Given the description of an element on the screen output the (x, y) to click on. 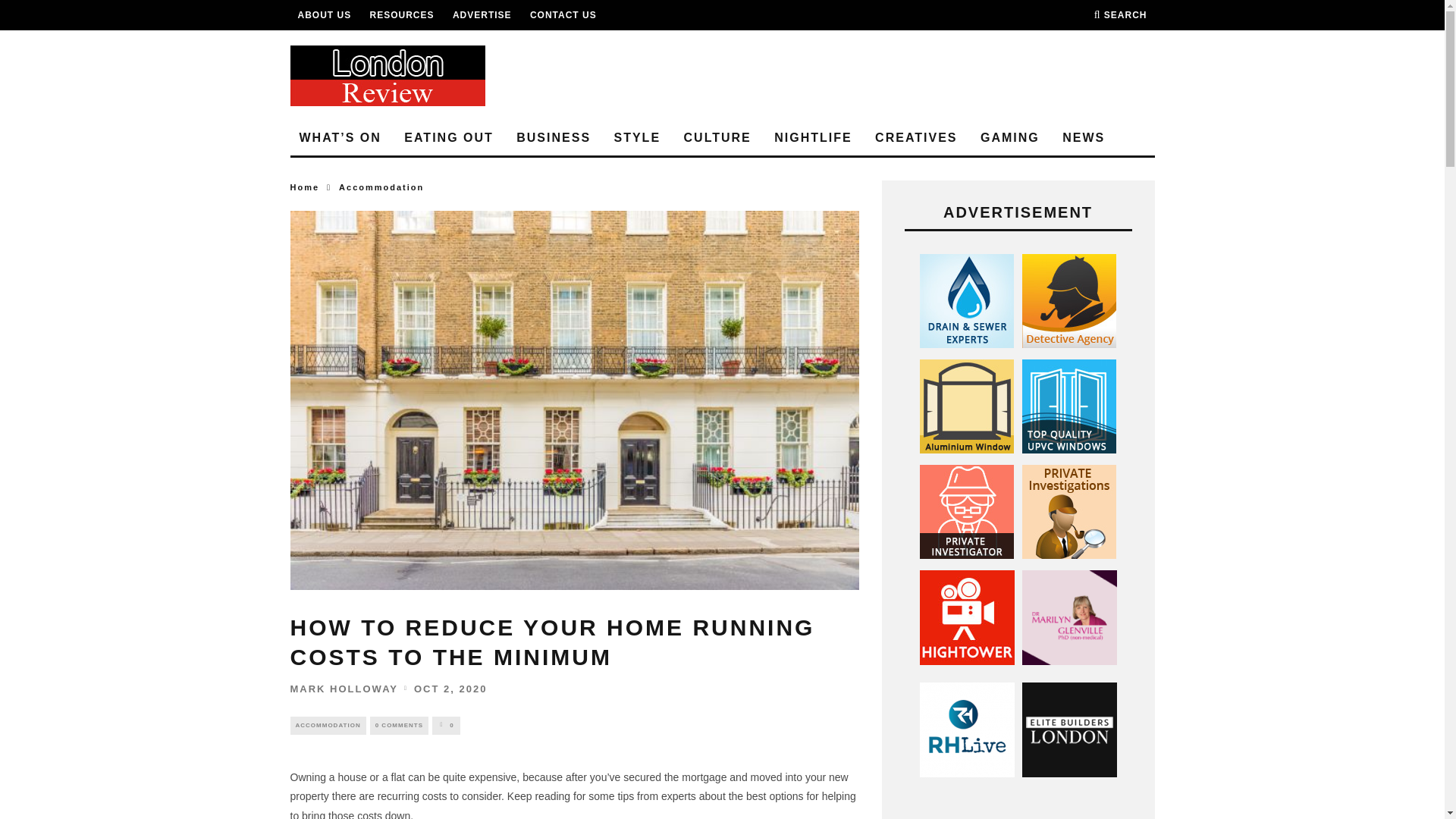
Home (303, 186)
Search (1120, 15)
ACCOMMODATION (327, 725)
SEARCH (1120, 15)
STYLE (637, 138)
BUSINESS (552, 138)
MARK HOLLOWAY (343, 687)
CREATIVES (916, 138)
Accommodation (381, 186)
View all posts in Accommodation (327, 725)
